Given the description of an element on the screen output the (x, y) to click on. 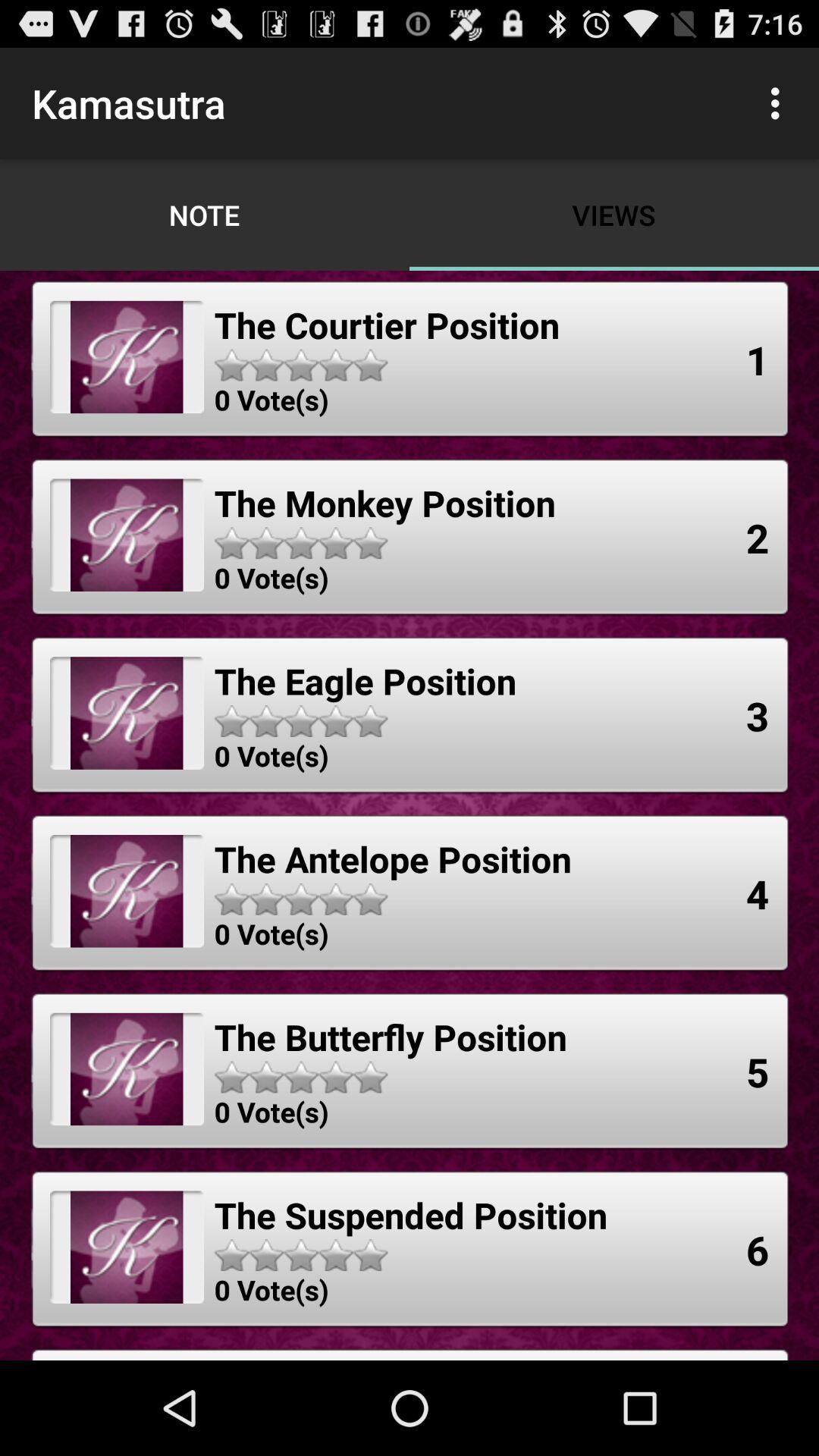
select the 2 app (757, 537)
